Given the description of an element on the screen output the (x, y) to click on. 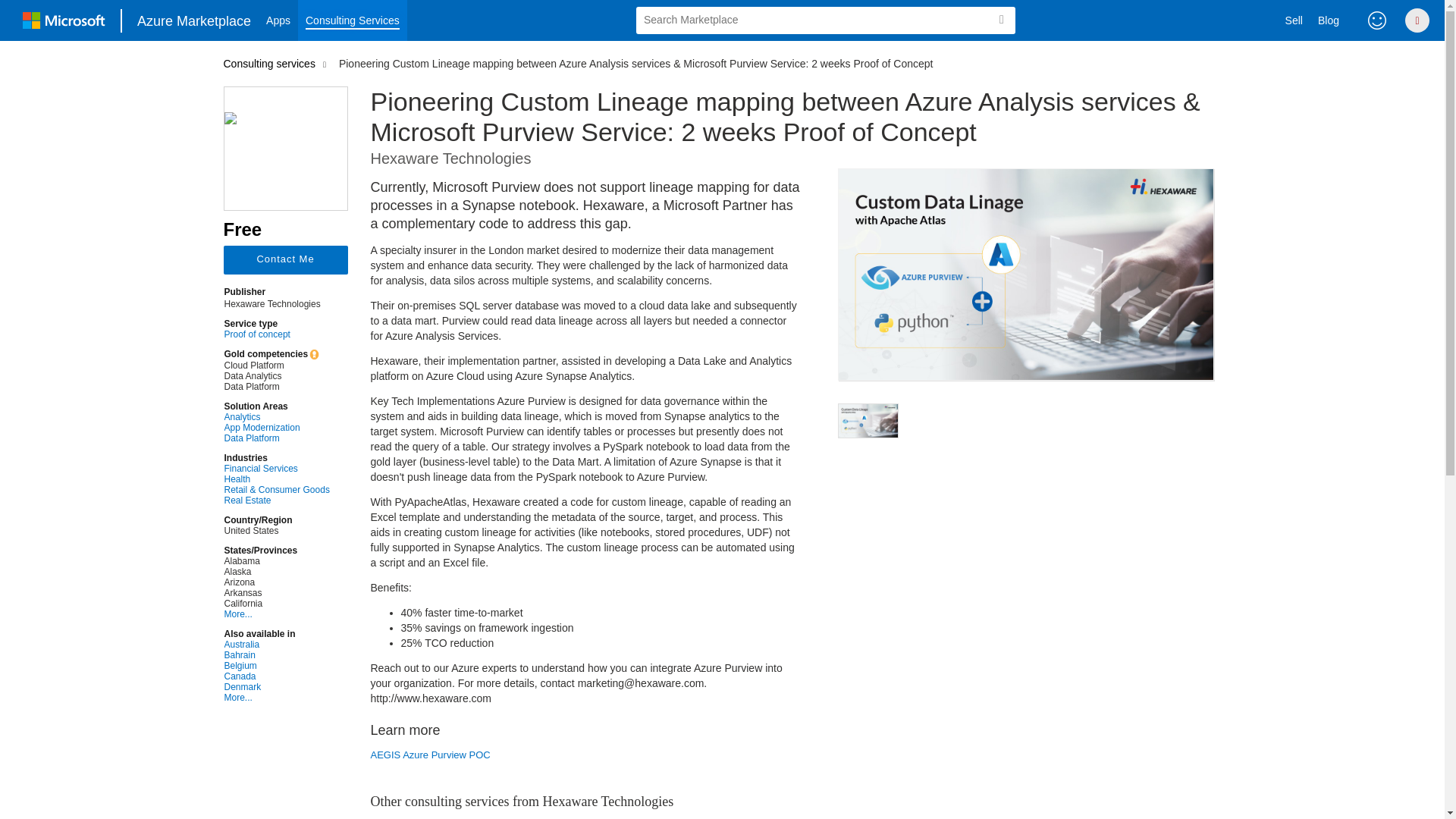
Azure Marketplace (194, 20)
Blog (1328, 20)
Consulting Services (352, 20)
Search (1001, 19)
Search  (1001, 19)
Feedback (1377, 20)
Apps (278, 20)
